Given the description of an element on the screen output the (x, y) to click on. 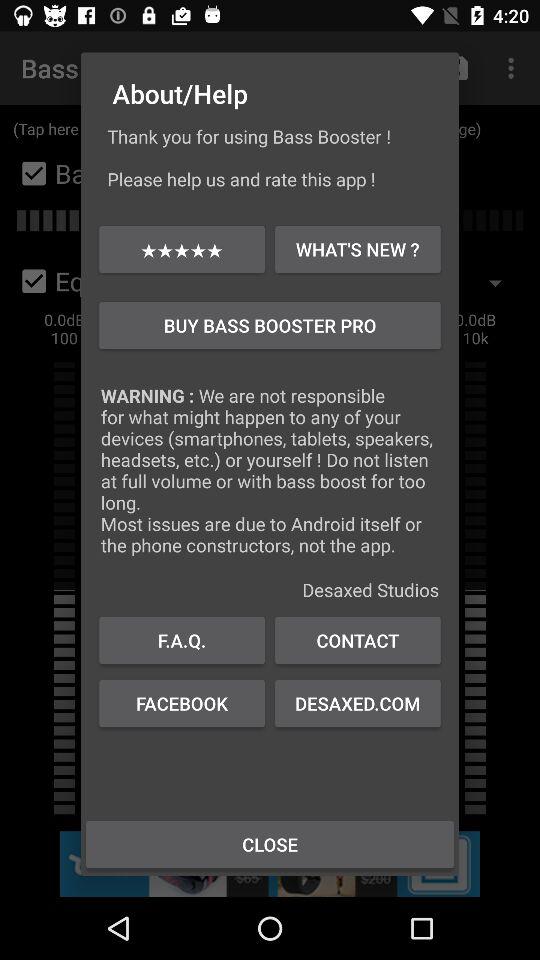
open icon next to what's new ? icon (182, 248)
